Given the description of an element on the screen output the (x, y) to click on. 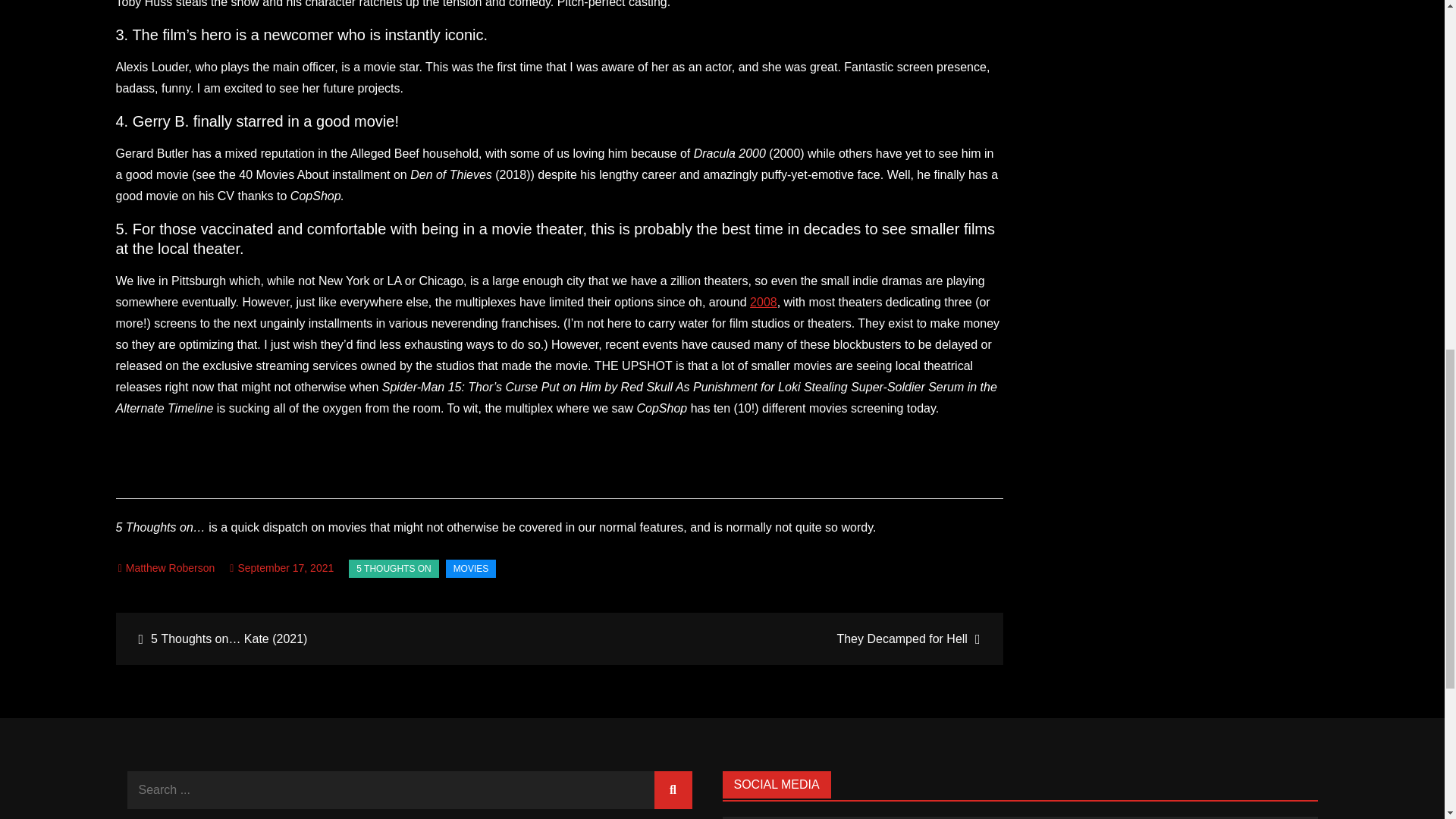
Search (672, 790)
Search for: (410, 790)
2008 (763, 301)
Matthew Roberson (166, 567)
MOVIES (470, 568)
September 17, 2021 (281, 567)
5 THOUGHTS ON (393, 568)
They Decamped for Hell (778, 639)
